Given the description of an element on the screen output the (x, y) to click on. 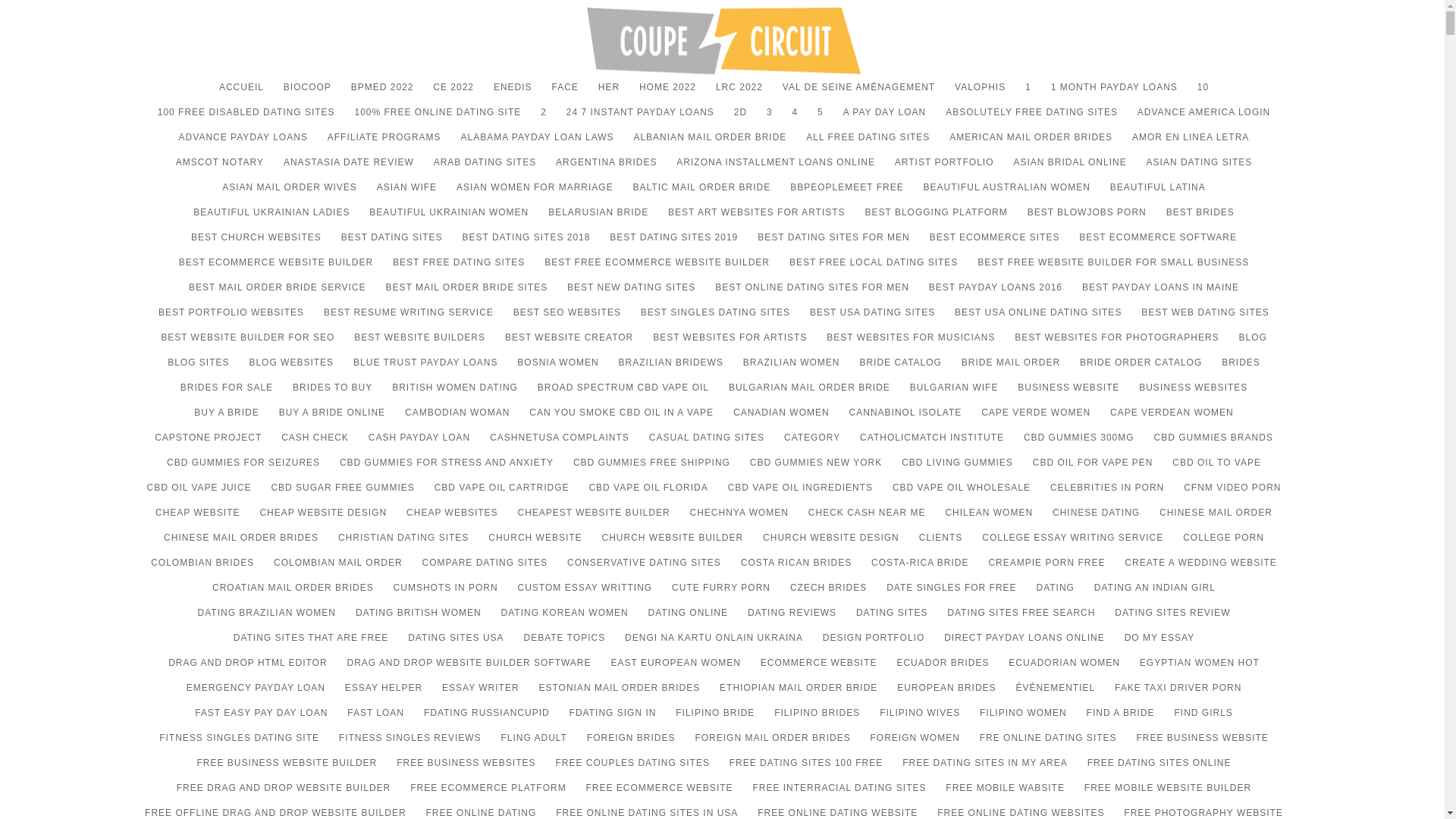
LRC 2022 (739, 94)
ALL FREE DATING SITES (868, 144)
AMSCOT NOTARY (219, 169)
BPMED 2022 (381, 94)
CE 2022 (453, 94)
ALABAMA PAYDAY LOAN LAWS (536, 144)
ARGENTINA BRIDES (606, 169)
BIOCOOP (307, 94)
VALOPHIS (980, 94)
ARTIST PORTFOLIO (944, 169)
